Given the description of an element on the screen output the (x, y) to click on. 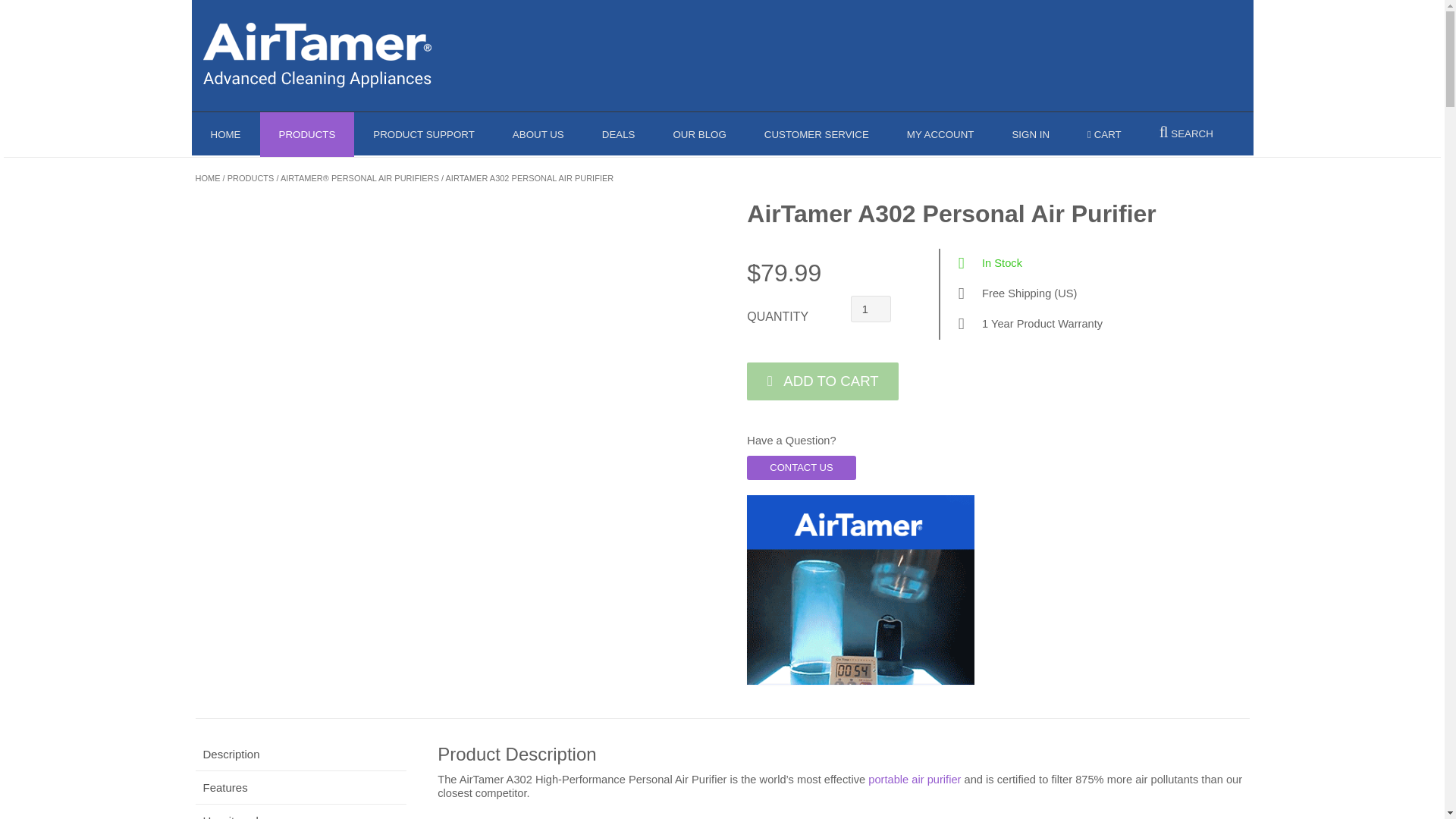
PRODUCTS (306, 134)
PRODUCT SUPPORT (423, 134)
AirTamer (316, 54)
Login (1030, 134)
View your shopping cart (1104, 134)
HOME (224, 134)
1 (870, 308)
